Given the description of an element on the screen output the (x, y) to click on. 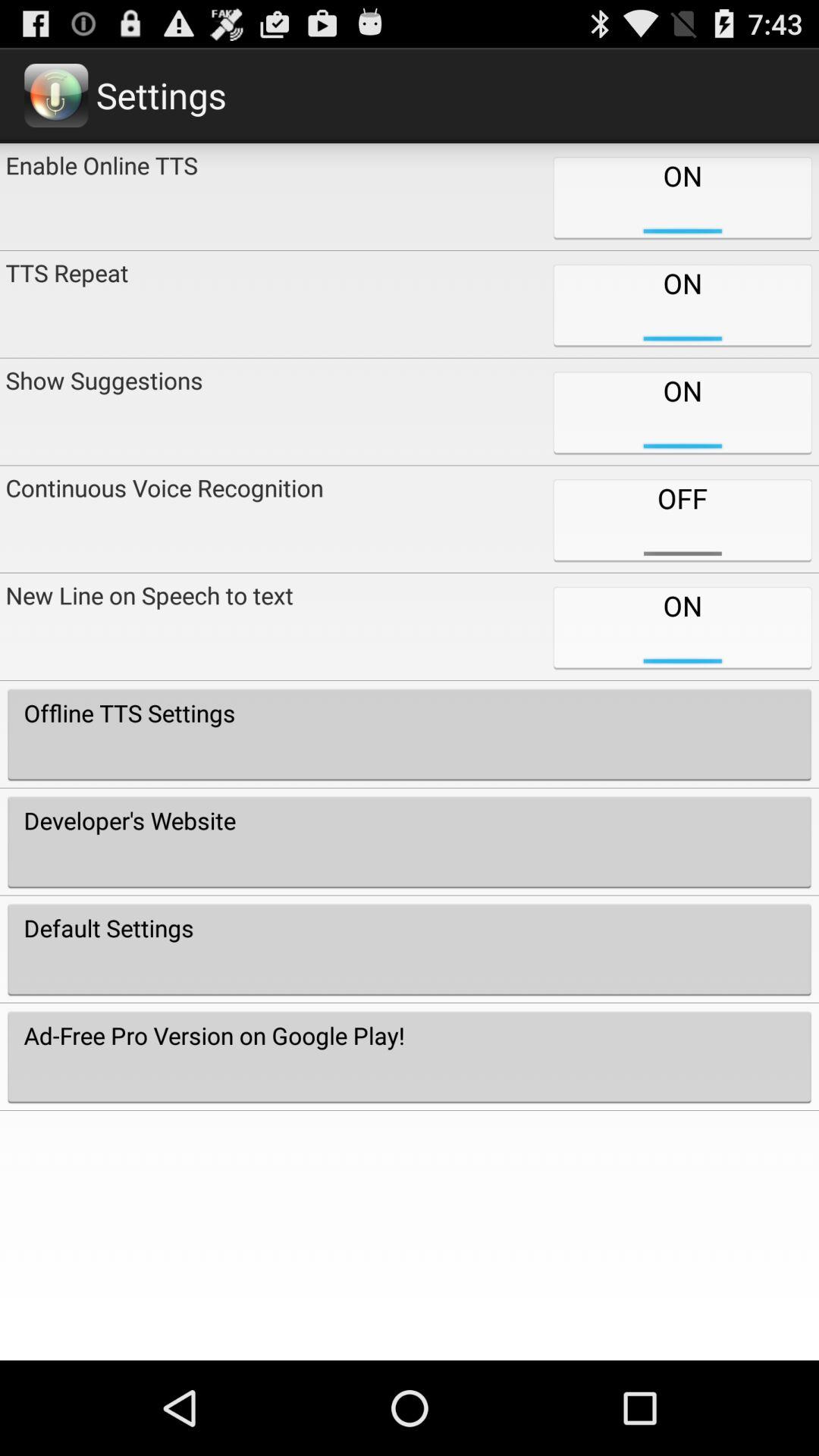
press button below the offline tts settings item (409, 841)
